Given the description of an element on the screen output the (x, y) to click on. 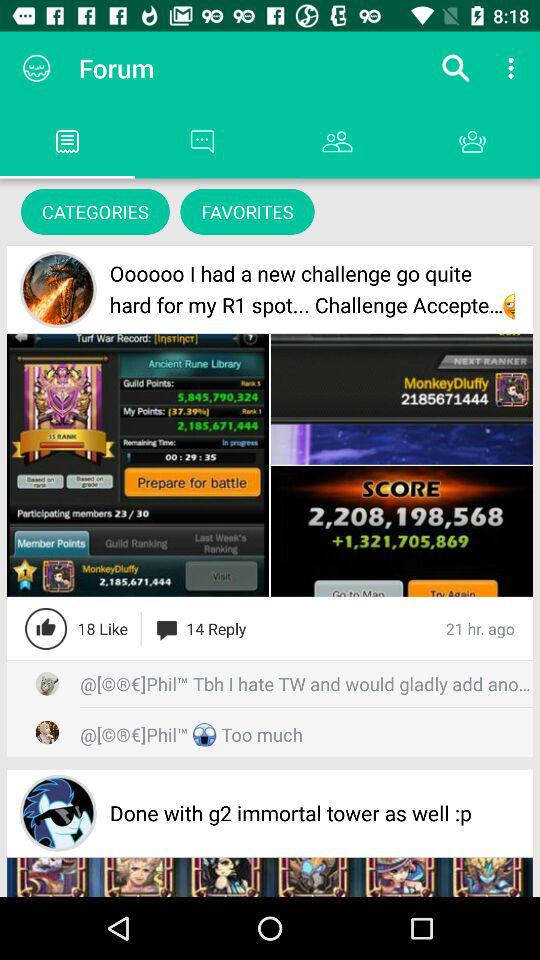
click the item to the left of the favorites (95, 211)
